Given the description of an element on the screen output the (x, y) to click on. 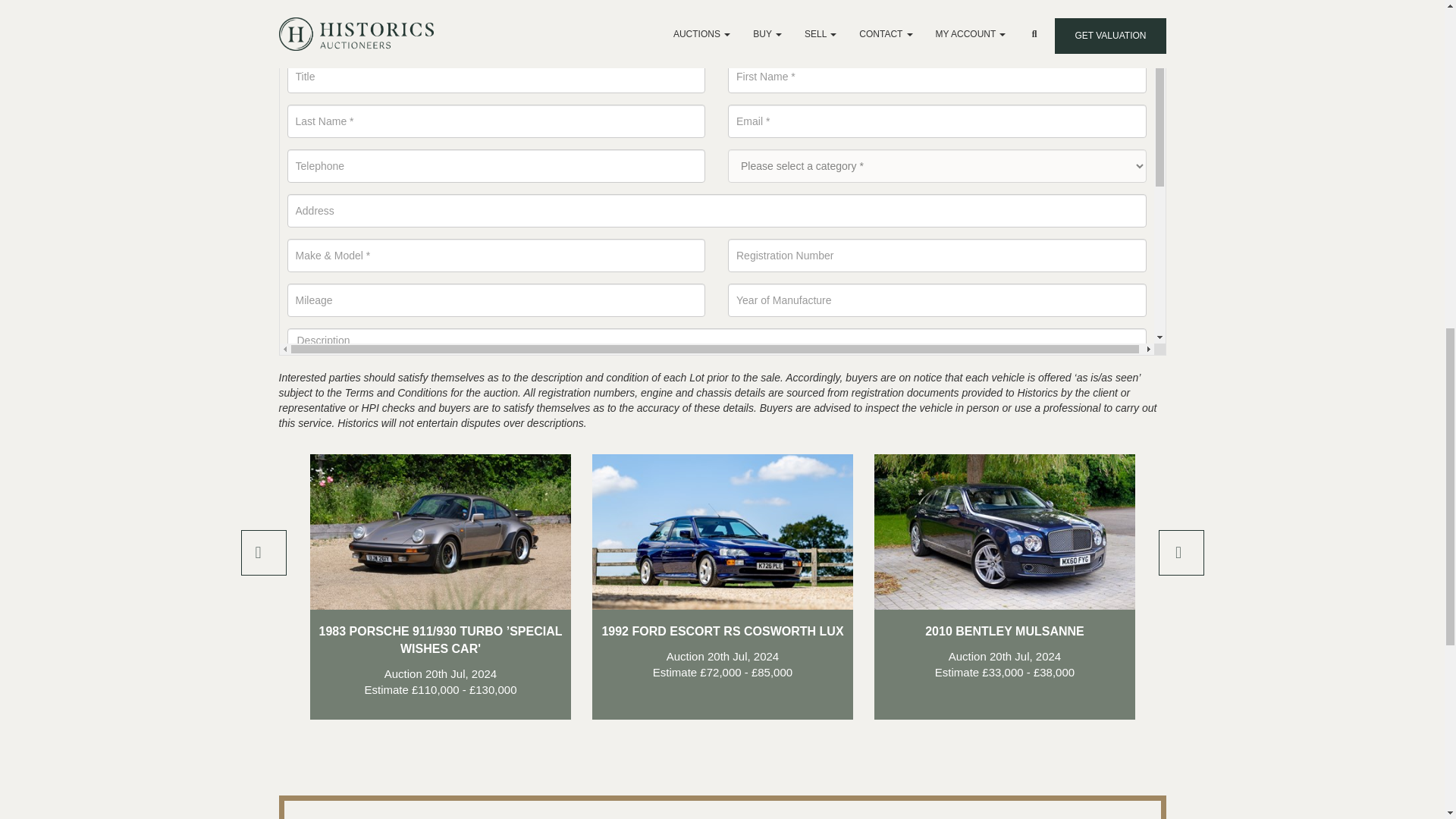
Submit (328, 665)
Sell one like this (491, 36)
Insure my Classic (384, 36)
